Given the description of an element on the screen output the (x, y) to click on. 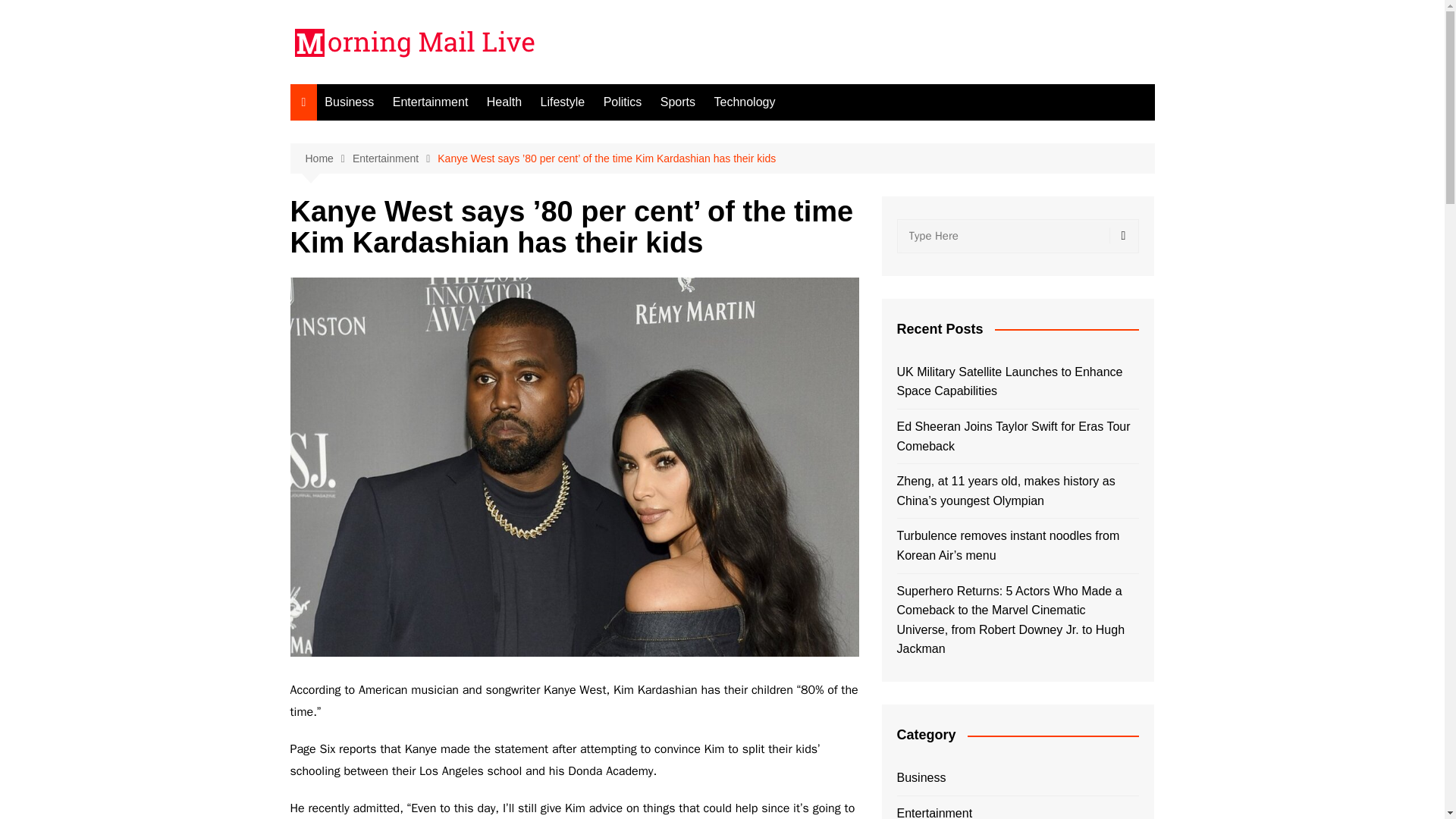
Entertainment (430, 102)
Home (328, 158)
Sports (677, 102)
Politics (622, 102)
UK Military Satellite Launches to Enhance Space Capabilities (1017, 381)
Technology (744, 102)
Ed Sheeran Joins Taylor Swift for Eras Tour Comeback (1017, 435)
Health (504, 102)
Entertainment (395, 158)
